Given the description of an element on the screen output the (x, y) to click on. 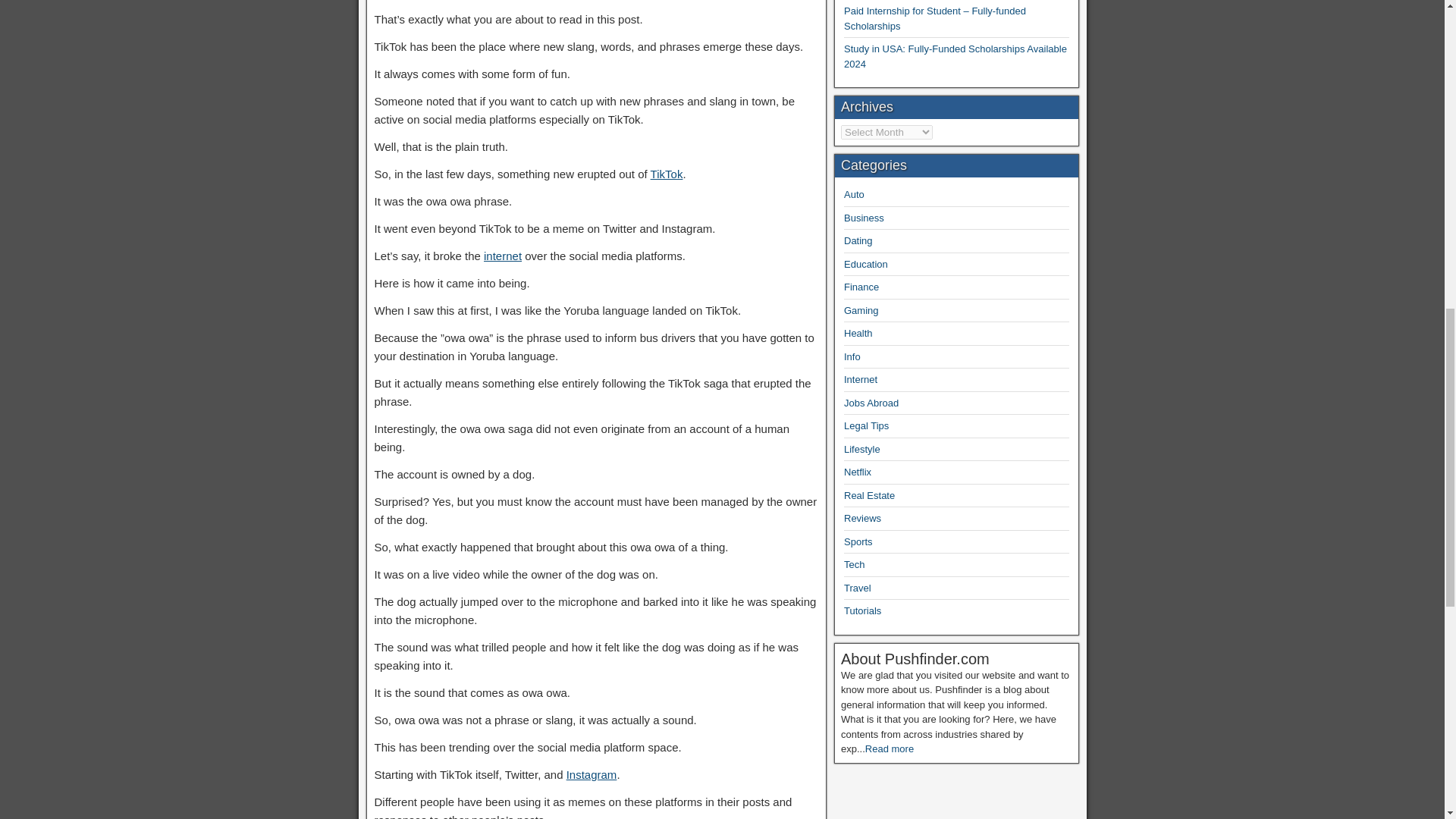
Auto (854, 194)
internet (502, 255)
Study in USA: Fully-Funded Scholarships Available 2024 (955, 56)
Dating (858, 240)
Health (858, 333)
Education (866, 264)
Instagram (591, 774)
TikTok (666, 173)
Gaming (861, 310)
Finance (861, 286)
